Given the description of an element on the screen output the (x, y) to click on. 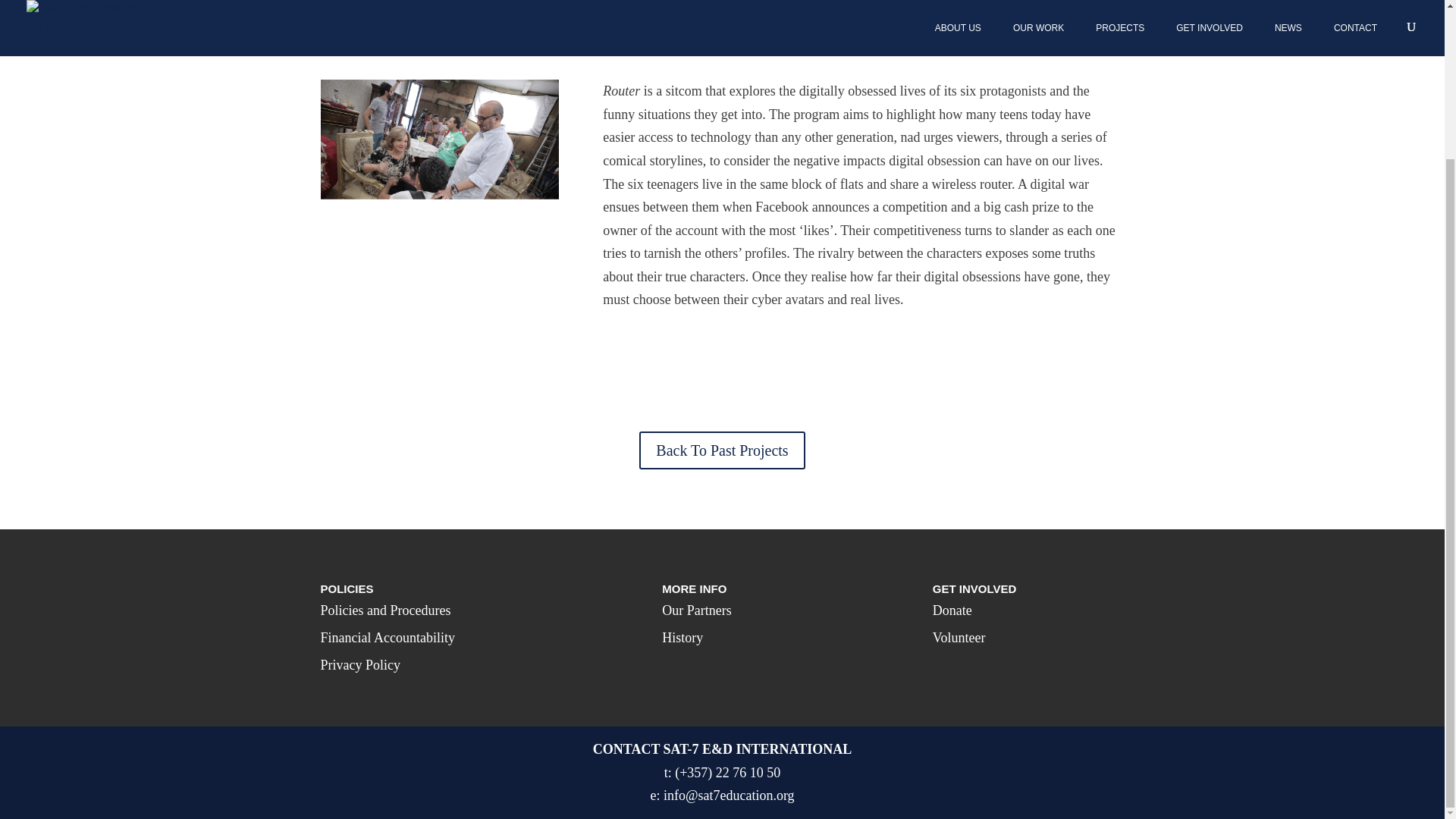
Privacy Policy (360, 664)
Donate (952, 610)
Back To Past Projects (722, 450)
Policies and Procedures (384, 610)
Our Partners (696, 610)
Volunteer (959, 637)
Financial Accountability (387, 637)
History (682, 637)
